Given the description of an element on the screen output the (x, y) to click on. 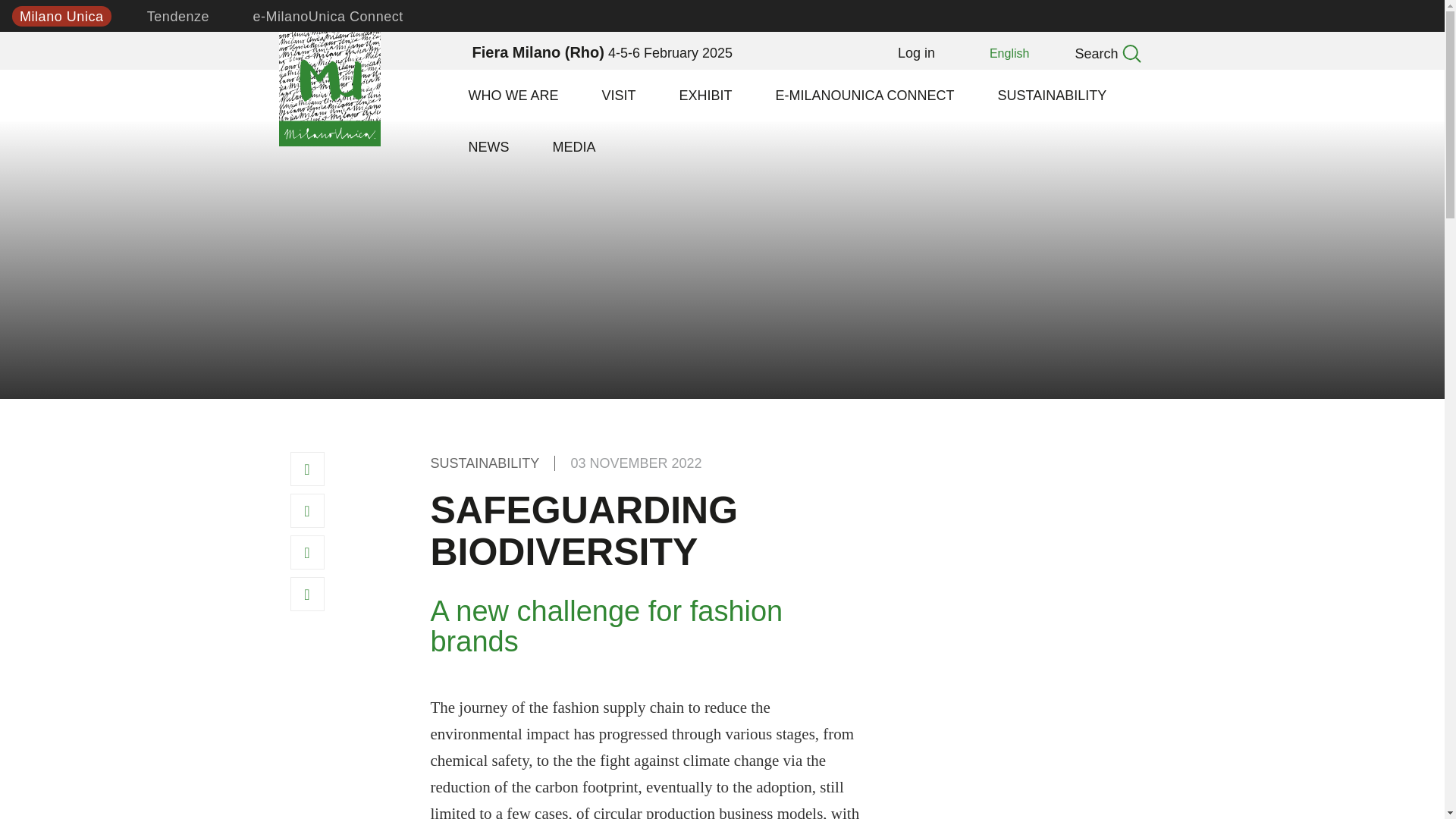
e-MU Connect (327, 15)
Milano Unica (330, 86)
Milano Unica (61, 15)
Milano Unica (61, 15)
English (1009, 53)
e-MilanoUnica Connect (327, 15)
Tendenze (177, 15)
Tendenze (177, 15)
